Given the description of an element on the screen output the (x, y) to click on. 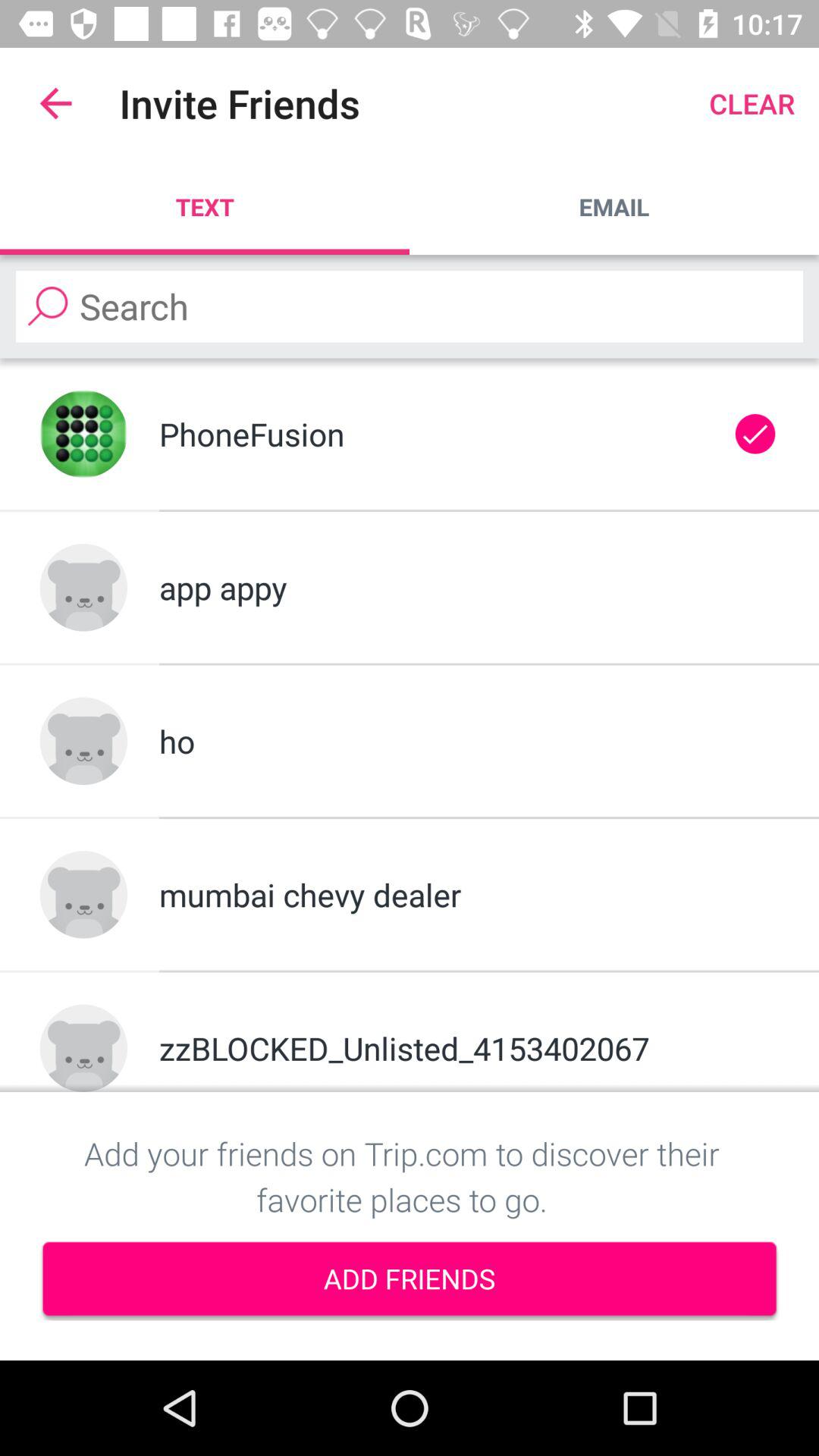
turn on the app next to invite friends icon (55, 103)
